Given the description of an element on the screen output the (x, y) to click on. 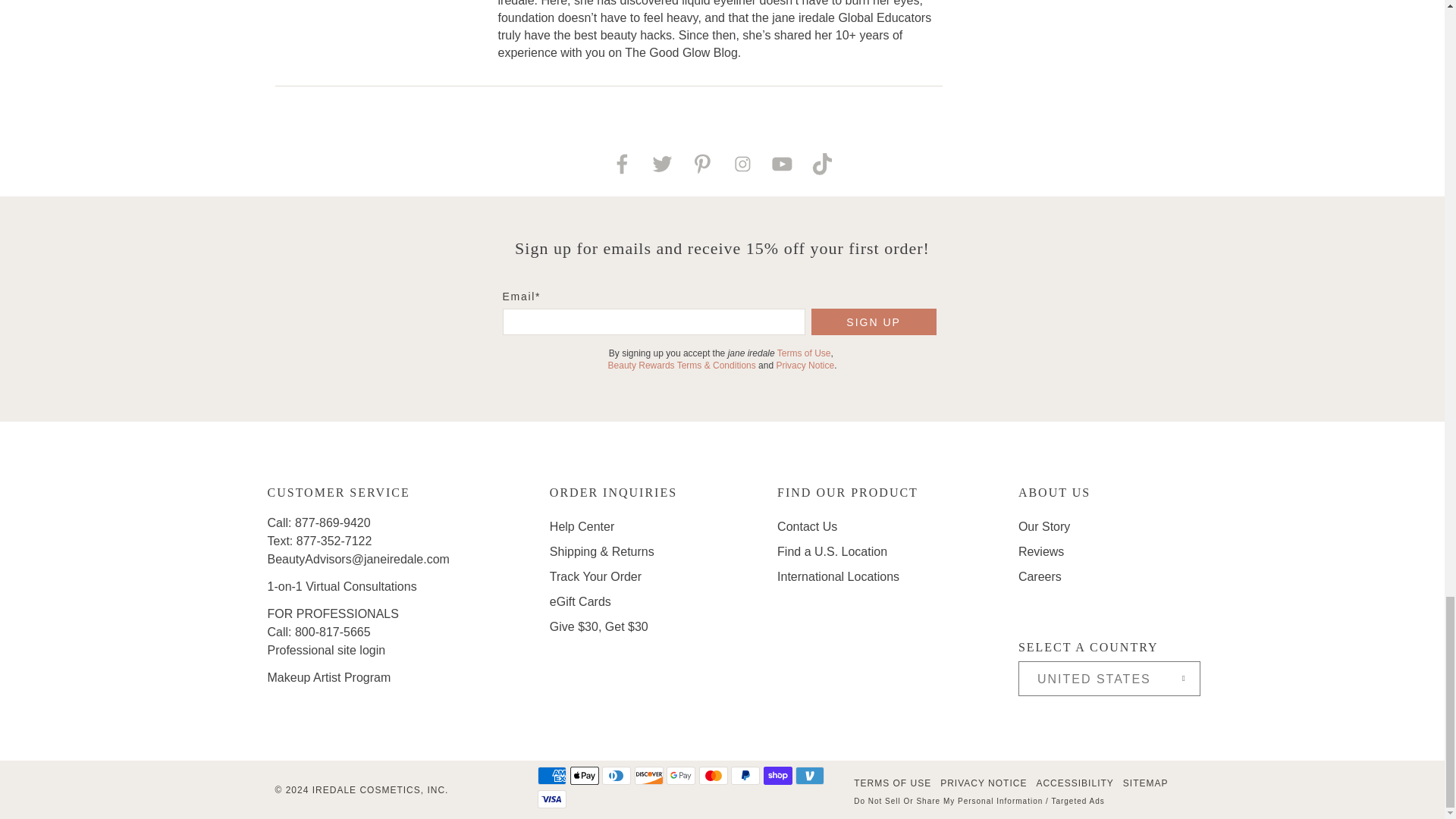
Apple Pay (584, 775)
Mastercard (713, 775)
Venmo (809, 775)
American Express (551, 775)
Discover (648, 775)
Shop Pay (777, 775)
Diners Club (616, 775)
Google Pay (680, 775)
PayPal (745, 775)
Visa (551, 799)
